Given the description of an element on the screen output the (x, y) to click on. 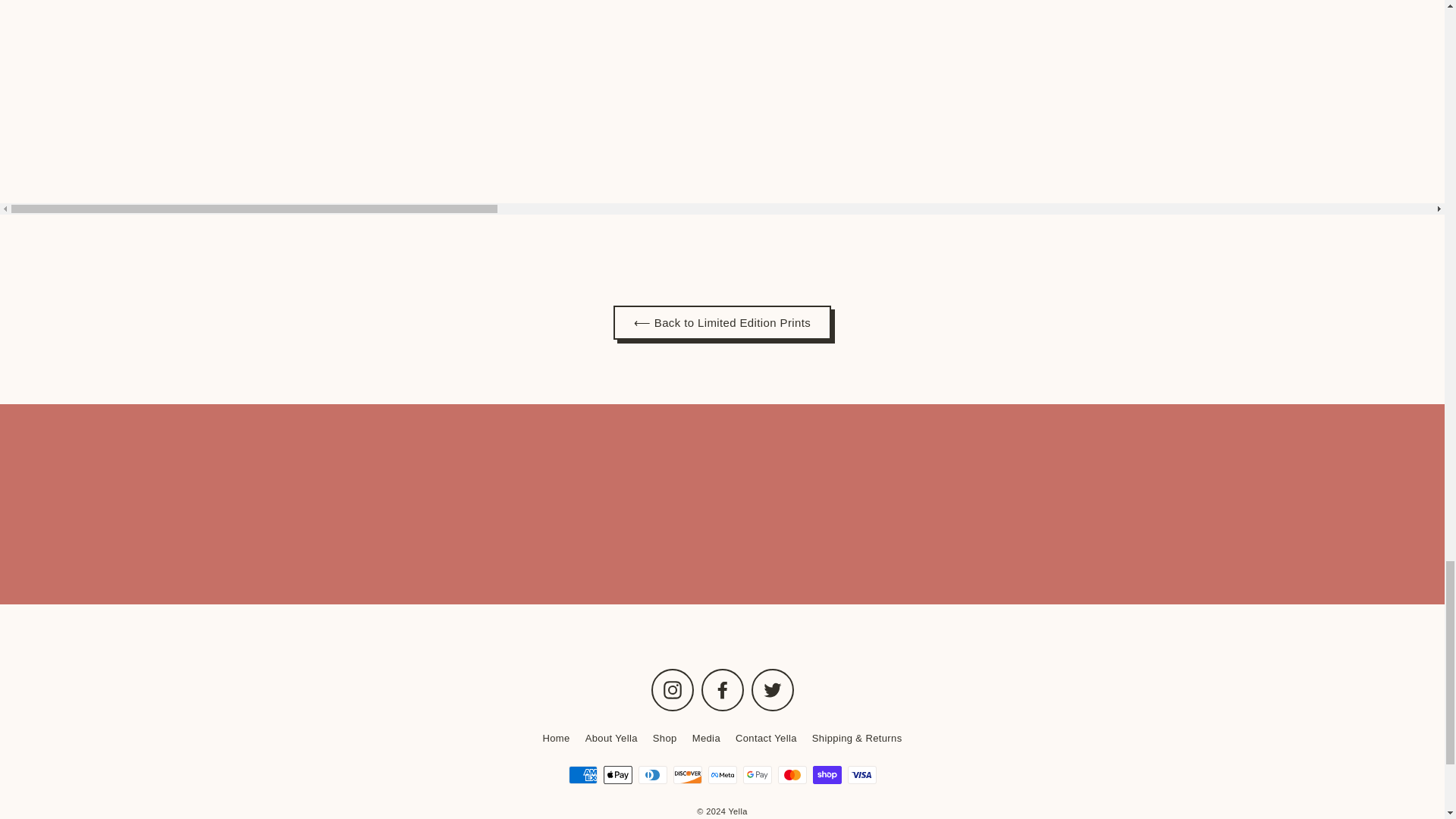
Discover (686, 774)
Shop Pay (826, 774)
Apple Pay (617, 774)
Yella on Instagram (671, 690)
Diners Club (652, 774)
Yella on Facebook (721, 690)
Yella on Twitter (772, 690)
American Express (582, 774)
Visa (861, 774)
Mastercard (791, 774)
Meta Pay (721, 774)
Google Pay (756, 774)
